Given the description of an element on the screen output the (x, y) to click on. 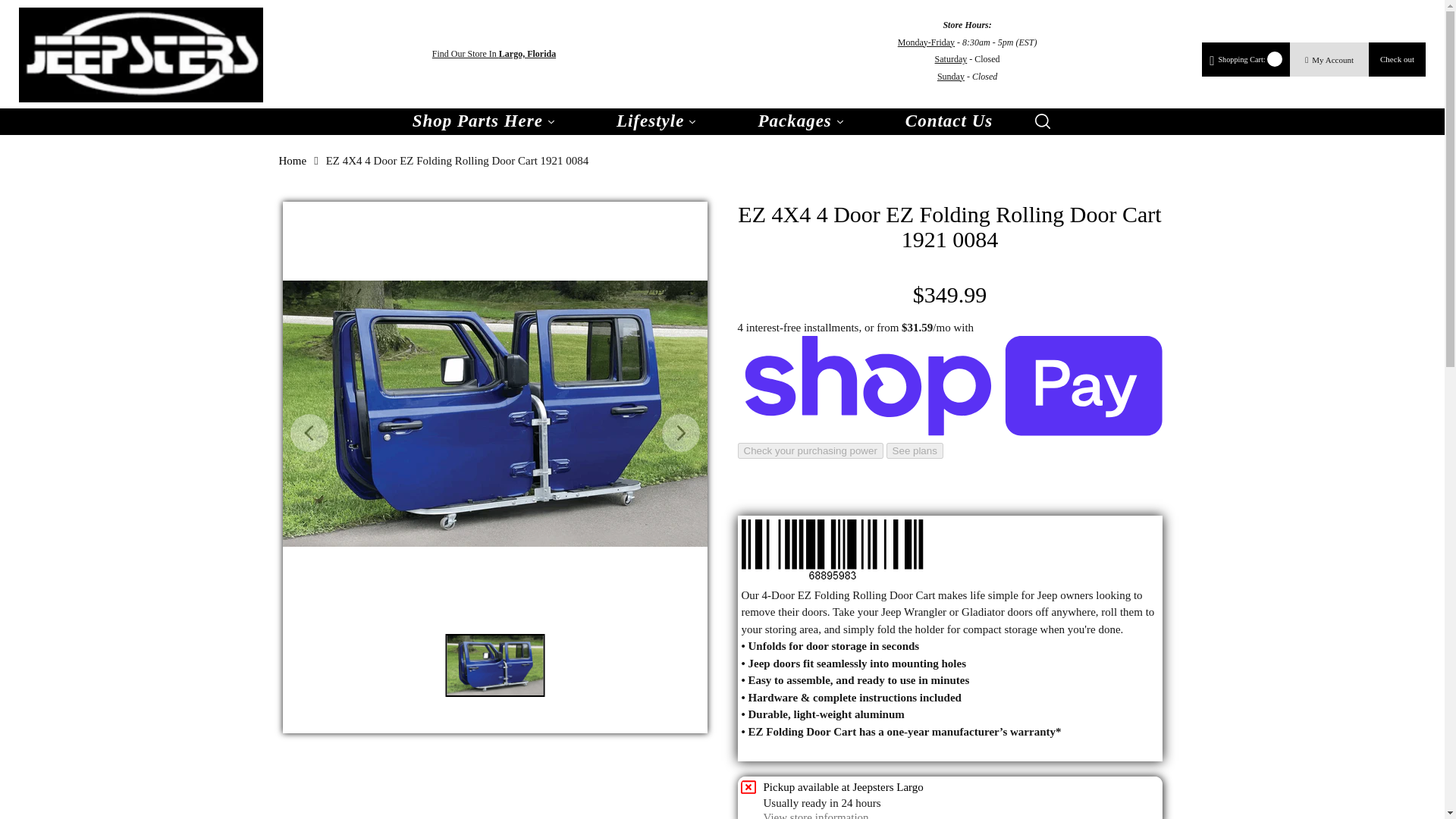
Home (293, 160)
My Account (1330, 59)
Shopping Cart: 0 (1248, 58)
View store information (814, 815)
Packages (800, 121)
Lifestyle (656, 121)
Check out (1396, 58)
Lifestyle (656, 121)
Contact Us (949, 121)
Find Our Store In Largo, Florida (494, 54)
My Account (1329, 59)
Contact Us (949, 121)
Shop Parts Here (483, 121)
Packages (800, 121)
Shop Parts Here (483, 121)
